Given the description of an element on the screen output the (x, y) to click on. 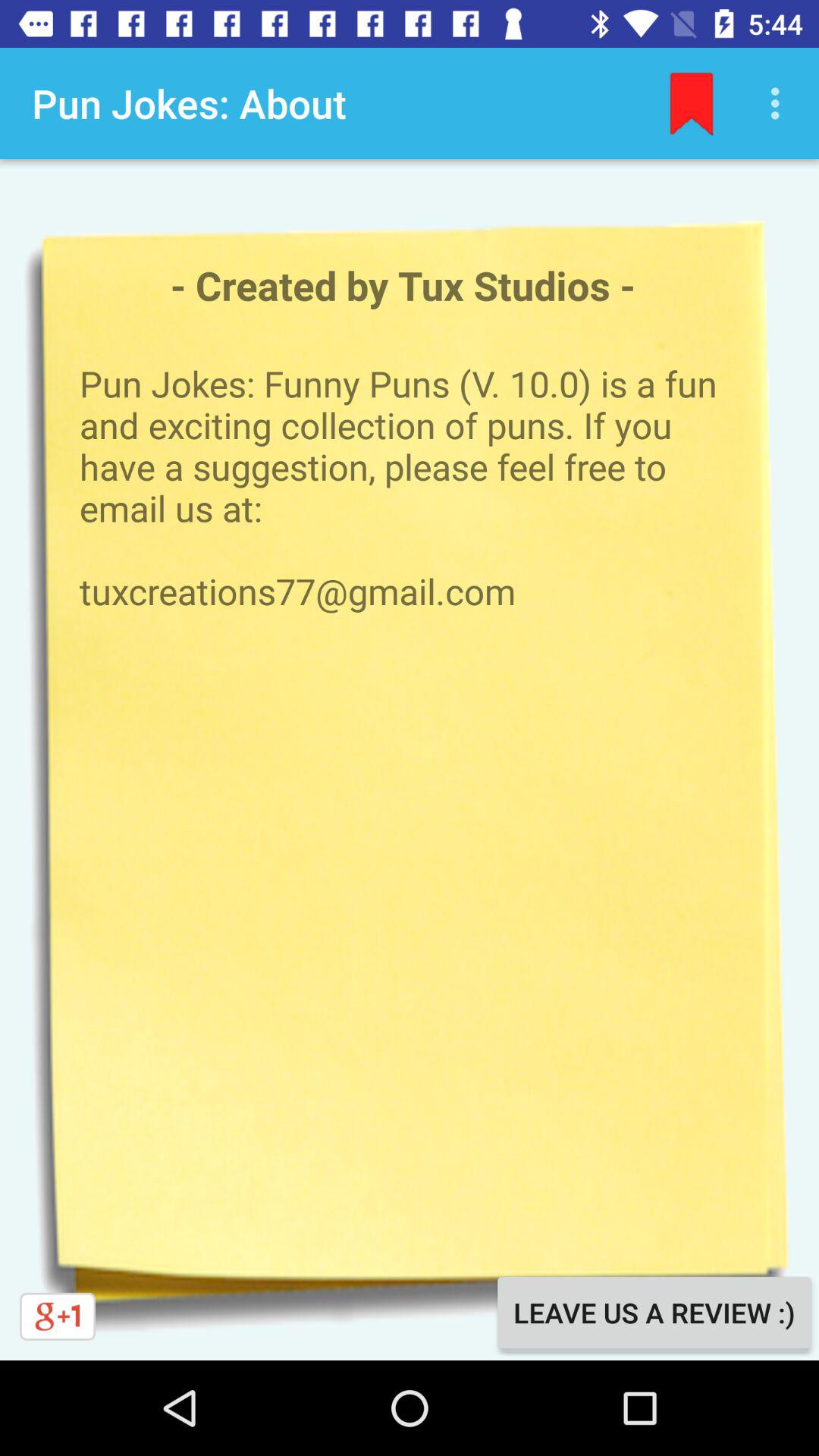
click the icon at the bottom right corner (654, 1312)
